Given the description of an element on the screen output the (x, y) to click on. 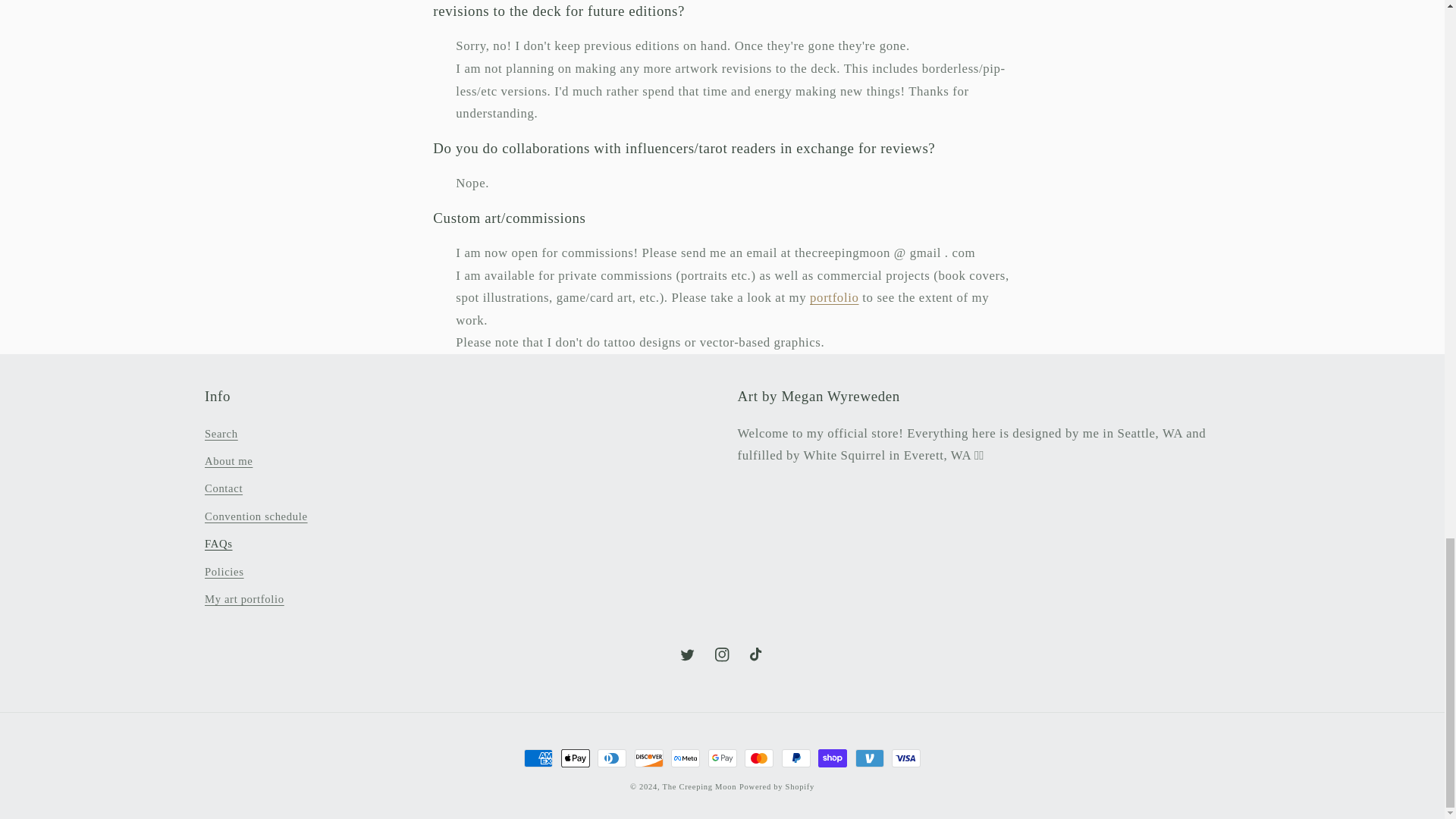
Megan Wyreweden art portfolio (834, 297)
